Given the description of an element on the screen output the (x, y) to click on. 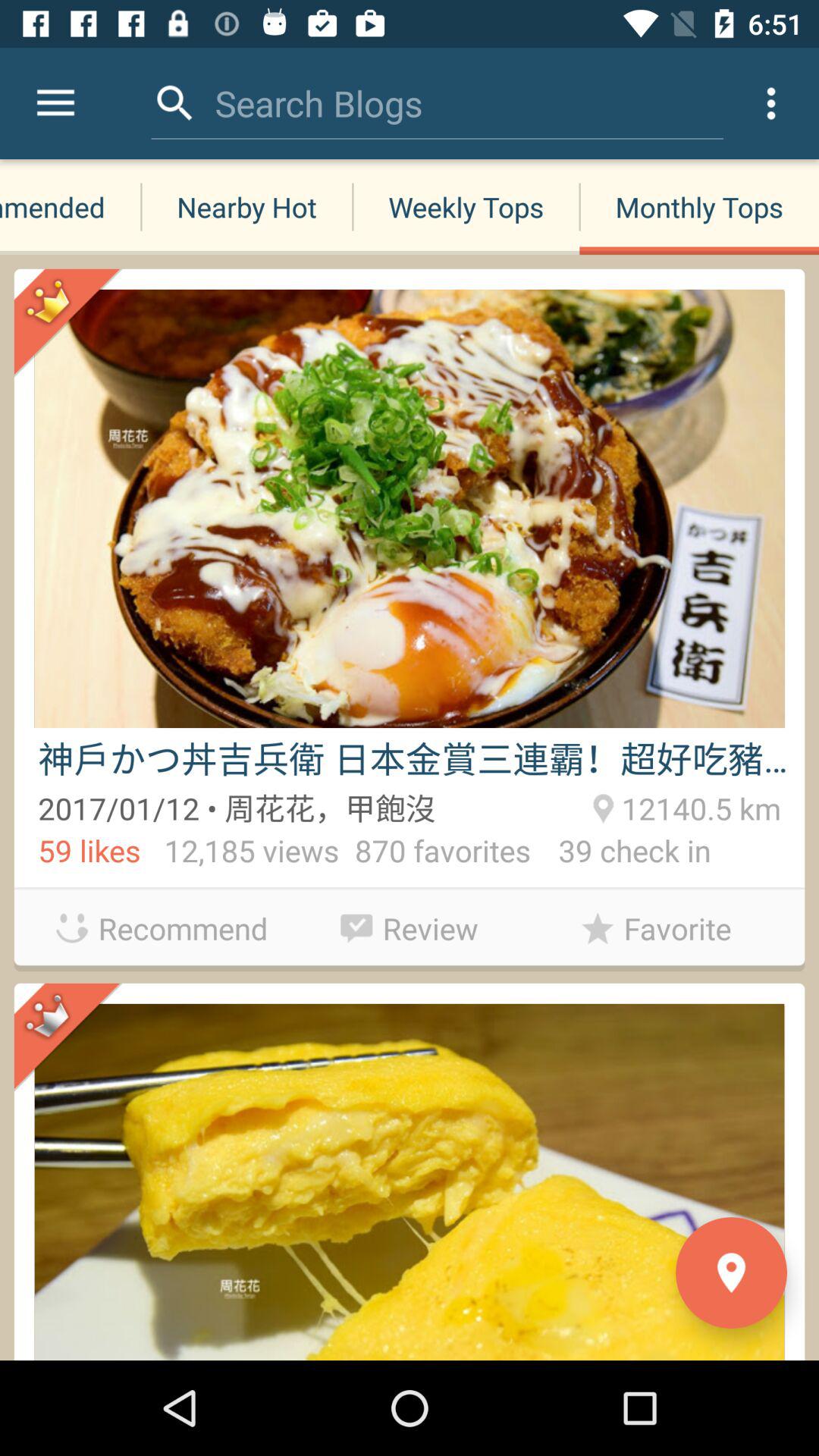
turn on item below search blogs item (246, 206)
